Given the description of an element on the screen output the (x, y) to click on. 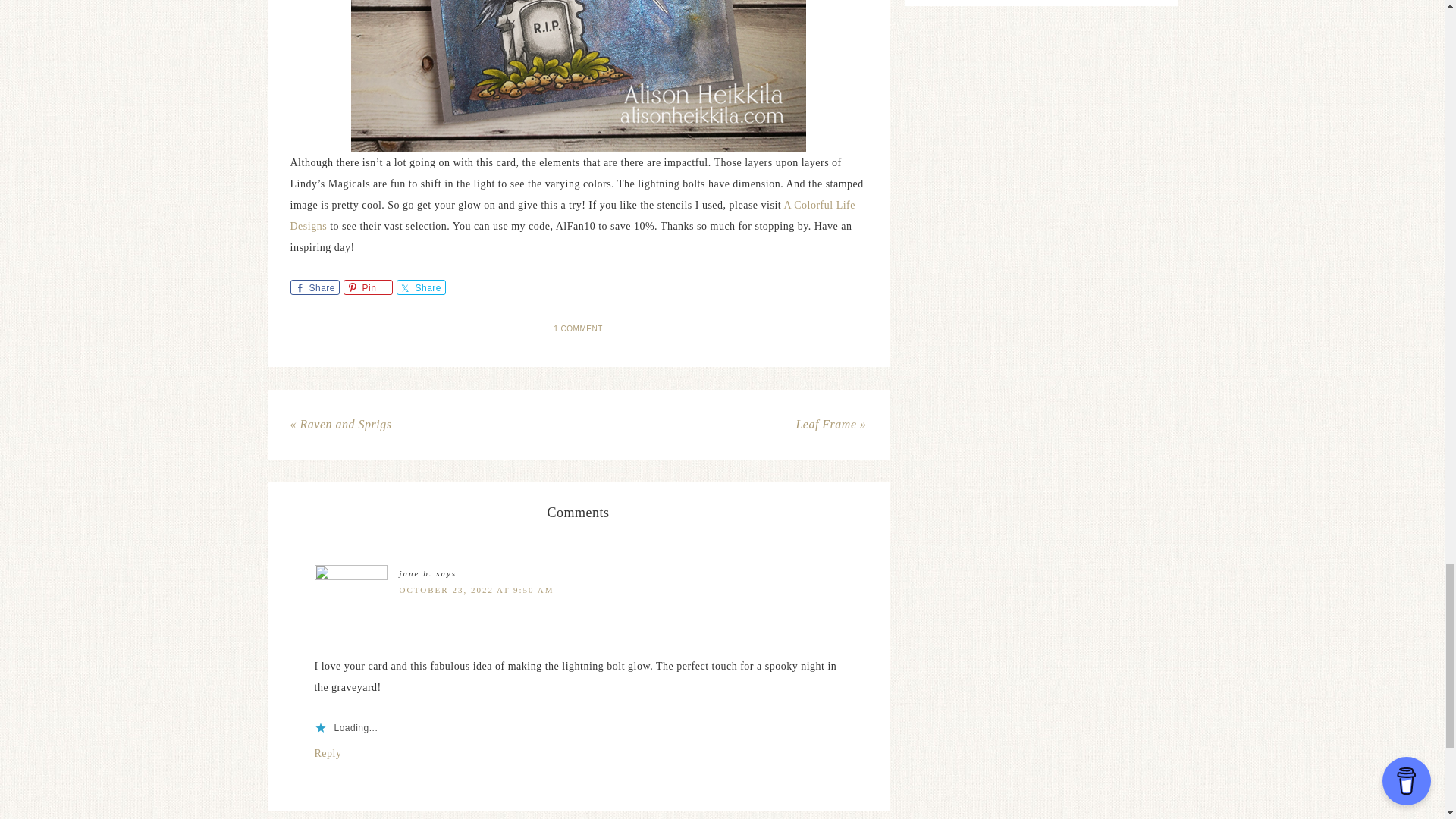
Share (314, 287)
Pin (366, 287)
1 COMMENT (577, 328)
Reply (327, 753)
OCTOBER 23, 2022 AT 9:50 AM (475, 589)
Share (420, 287)
A Colorful Life Designs (572, 215)
